Given the description of an element on the screen output the (x, y) to click on. 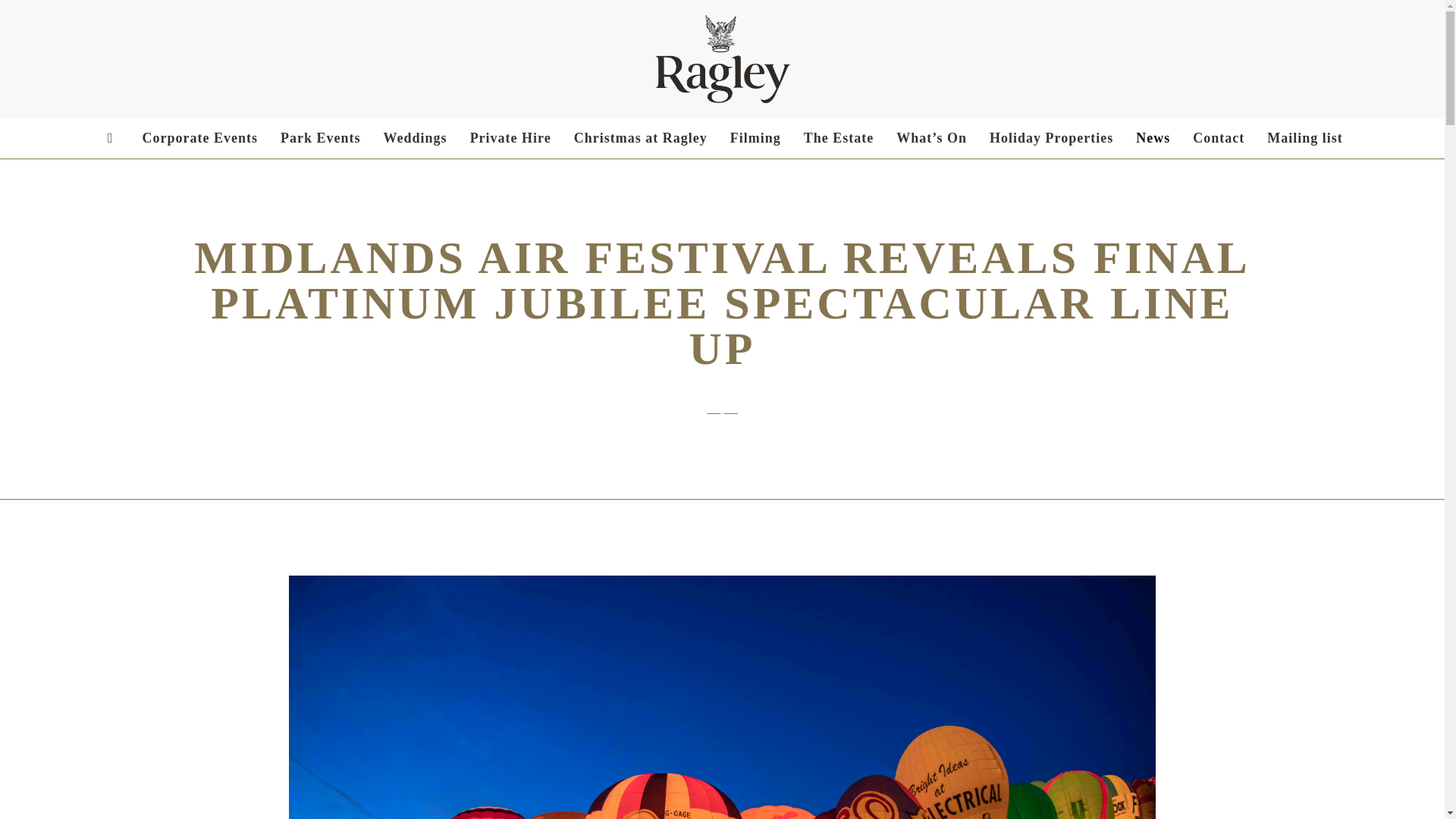
Christmas at Ragley (640, 137)
Private Hire (510, 137)
Park Events (320, 137)
Corporate Events (200, 137)
Weddings (415, 137)
Filming (755, 137)
The Estate (838, 137)
